Given the description of an element on the screen output the (x, y) to click on. 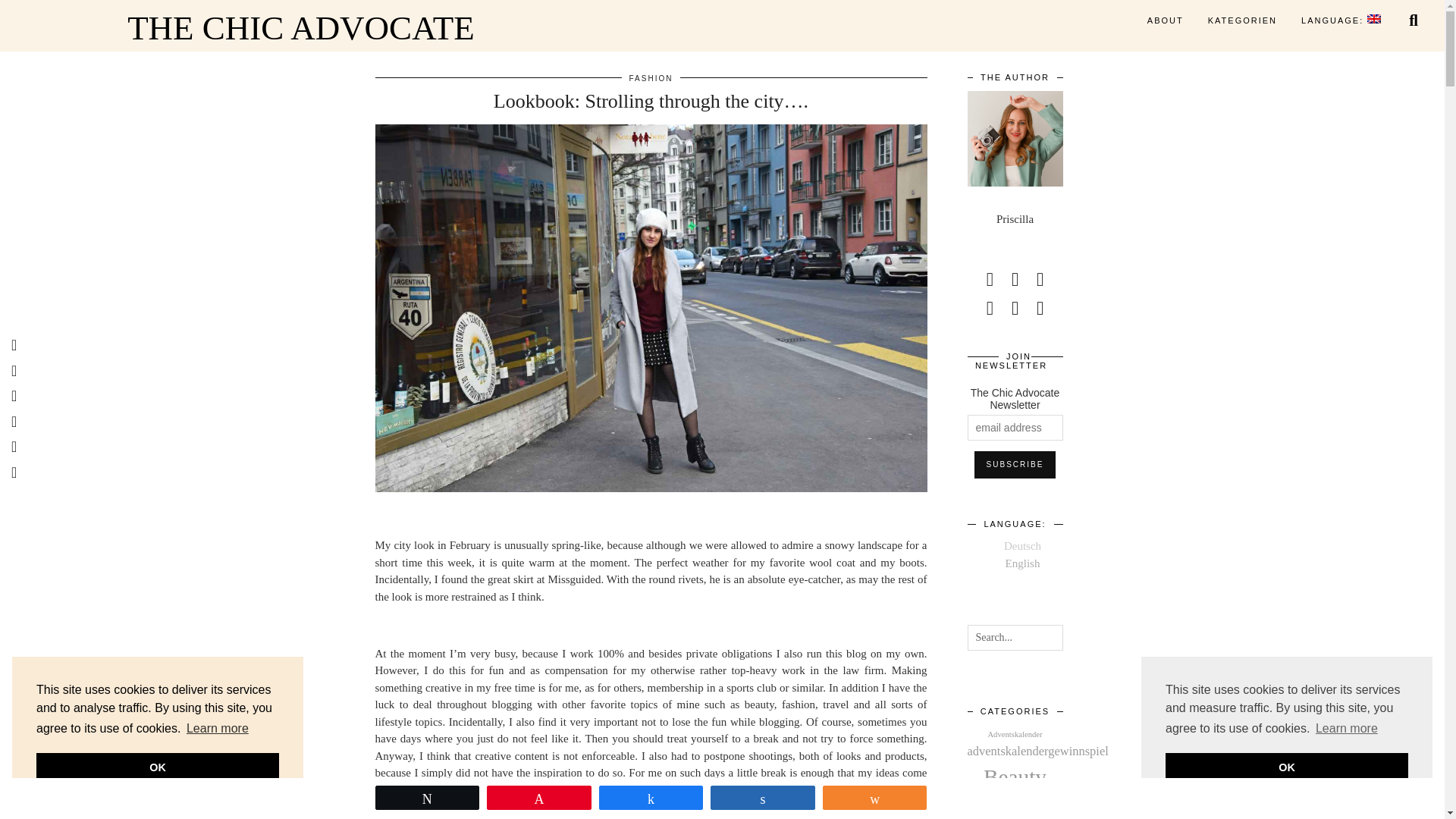
OK (157, 767)
OK (1286, 767)
Learn more (217, 728)
The Chic Advocate (300, 28)
Learn more (1346, 728)
Subscribe (1015, 464)
English (1340, 20)
